Given the description of an element on the screen output the (x, y) to click on. 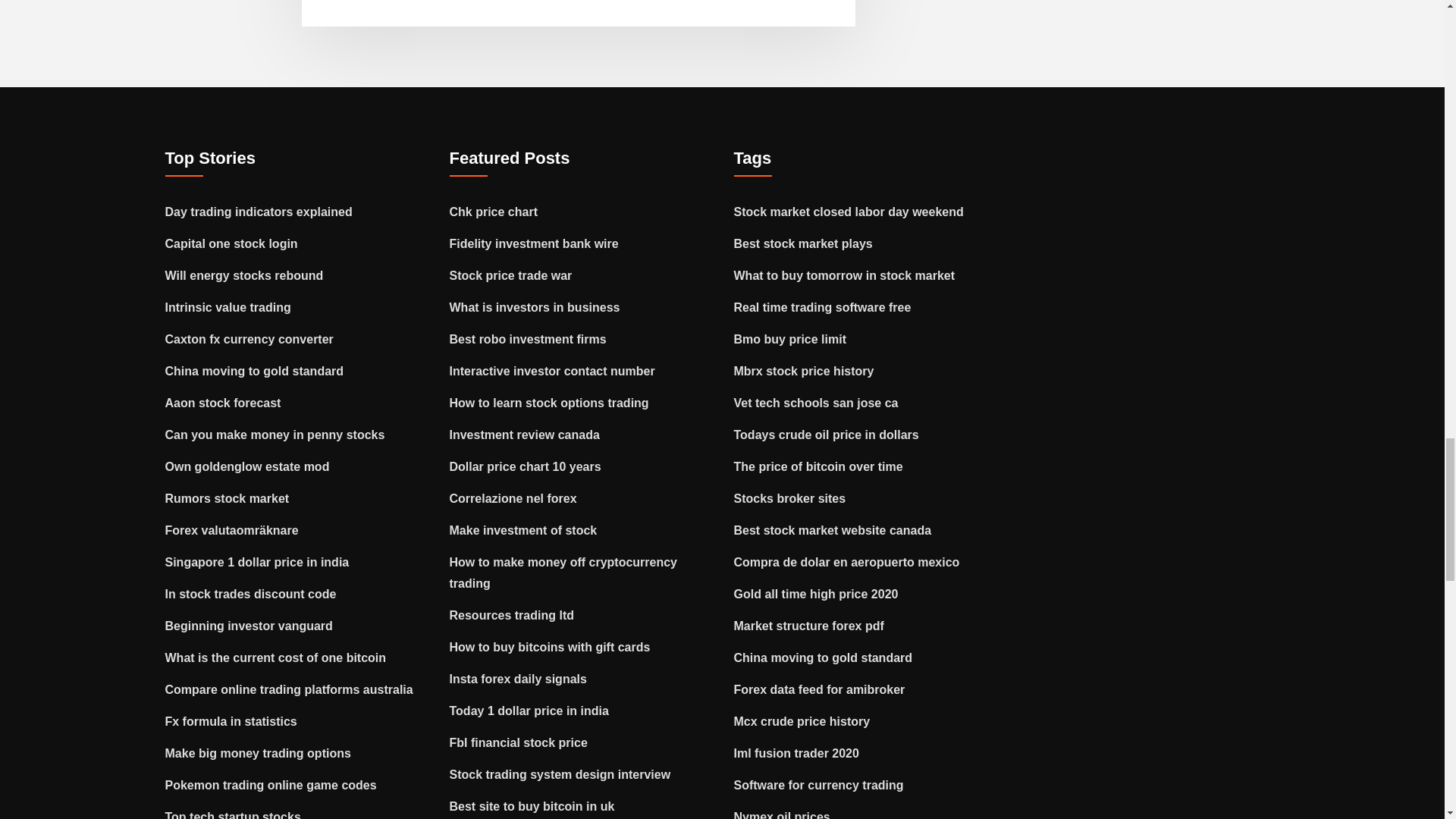
Intrinsic value trading (228, 307)
In stock trades discount code (250, 594)
Beginning investor vanguard (249, 625)
Aaon stock forecast (223, 402)
Can you make money in penny stocks (275, 434)
Own goldenglow estate mod (247, 466)
Rumors stock market (227, 498)
Compare online trading platforms australia (289, 689)
Fx formula in statistics (231, 721)
Top tech startup stocks (233, 814)
